Given the description of an element on the screen output the (x, y) to click on. 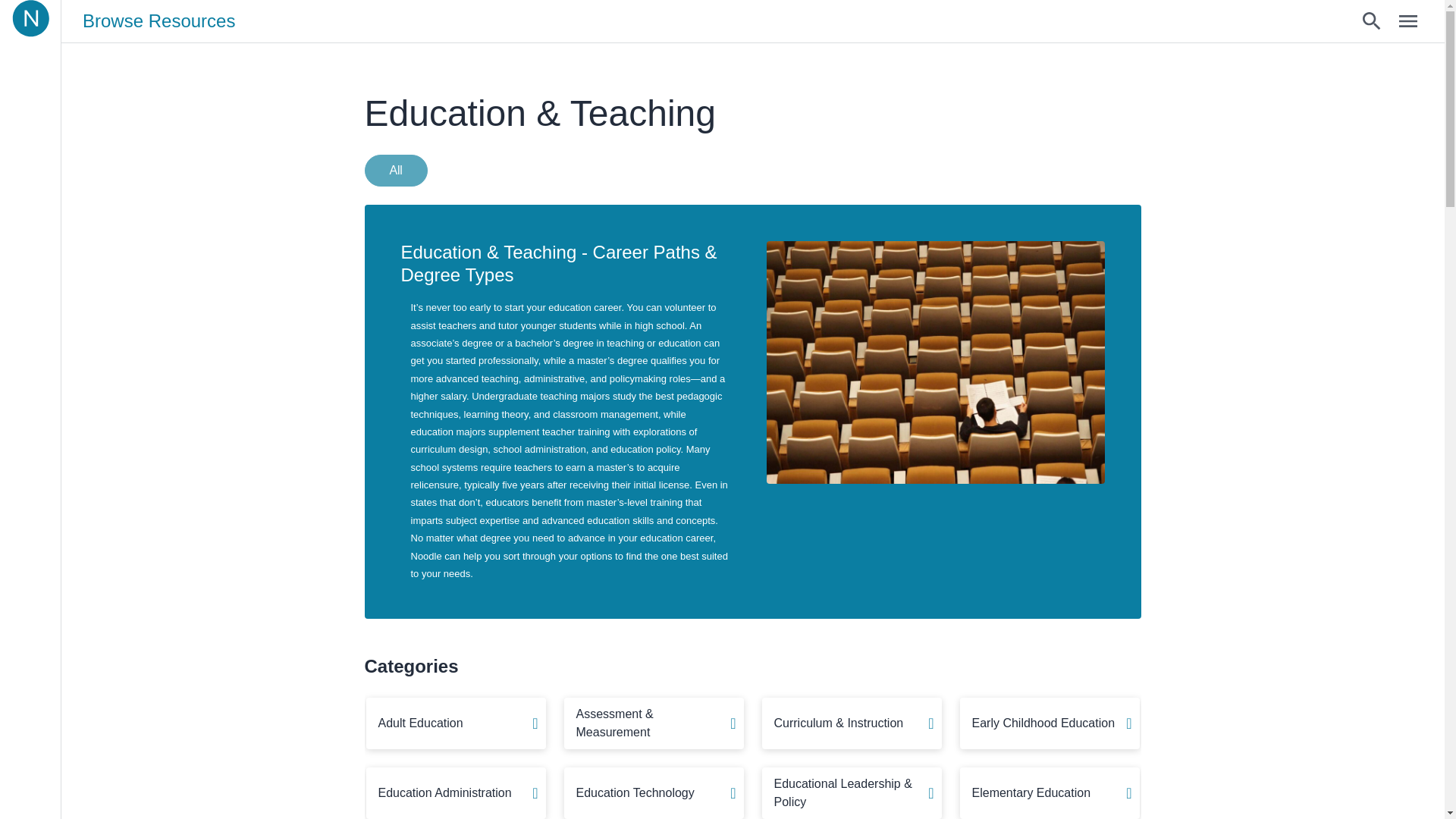
Search (1371, 21)
Education Administration (454, 793)
All (398, 170)
Elementary Education (1049, 793)
Menu (1408, 21)
Early Childhood Education (1049, 723)
Browse Resources (158, 21)
Education Technology (654, 793)
All (395, 170)
Adult Education (454, 723)
